Given the description of an element on the screen output the (x, y) to click on. 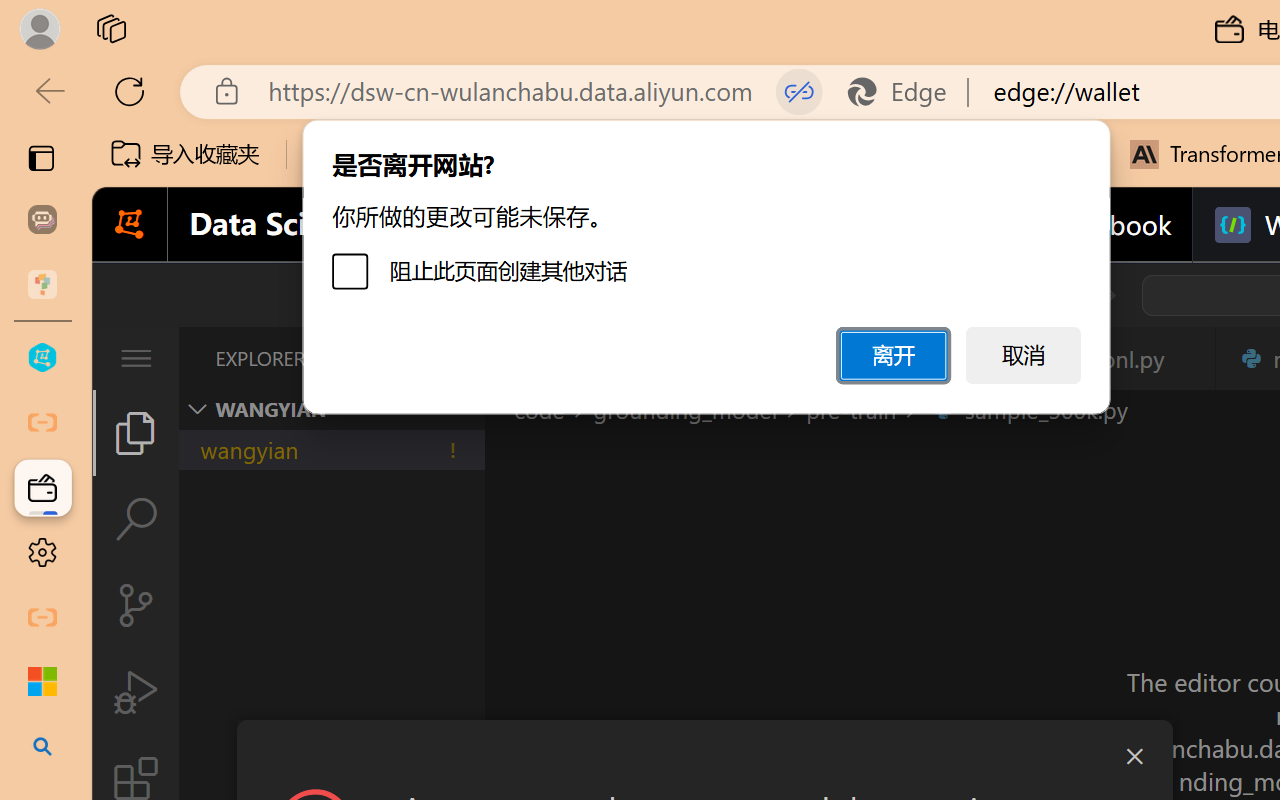
Source Control (Ctrl+Shift+G) (135, 604)
Class: menubar compact overflow-menu-only (135, 358)
Explorer (Ctrl+Shift+E) (135, 432)
Search (Ctrl+Shift+F) (135, 519)
